Given the description of an element on the screen output the (x, y) to click on. 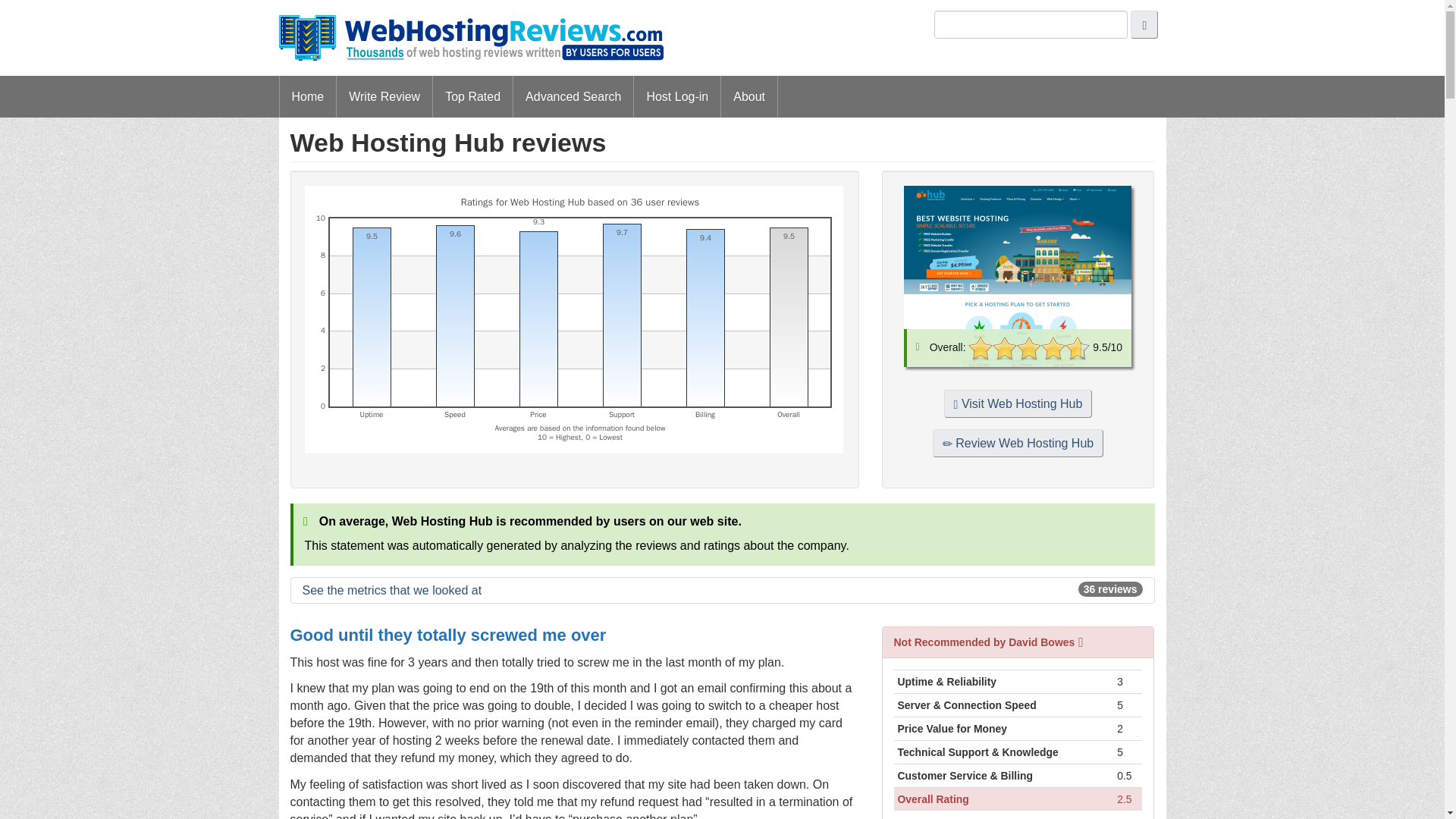
Write Review (384, 96)
Host Log-in (676, 96)
Review Web Hosting Hub (1018, 443)
Top Rated (472, 96)
Search (1144, 24)
Advanced Search (572, 96)
About (748, 96)
Visit Web Hosting Hub (1018, 403)
Home (307, 96)
Skip to main content (725, 11)
